Given the description of an element on the screen output the (x, y) to click on. 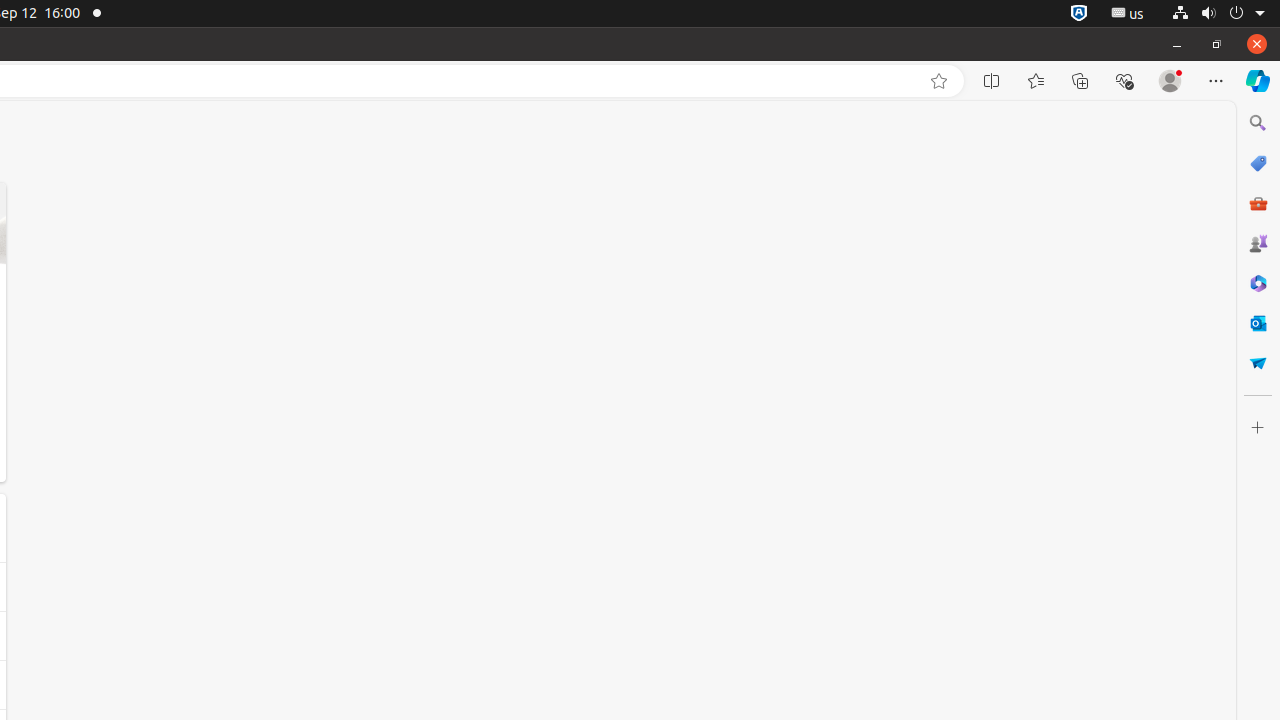
Microsoft 365 Element type: push-button (1258, 283)
Favorites Element type: push-button (1036, 81)
Tools Element type: push-button (1258, 202)
System Element type: menu (1218, 13)
Drop Element type: push-button (1258, 363)
